Given the description of an element on the screen output the (x, y) to click on. 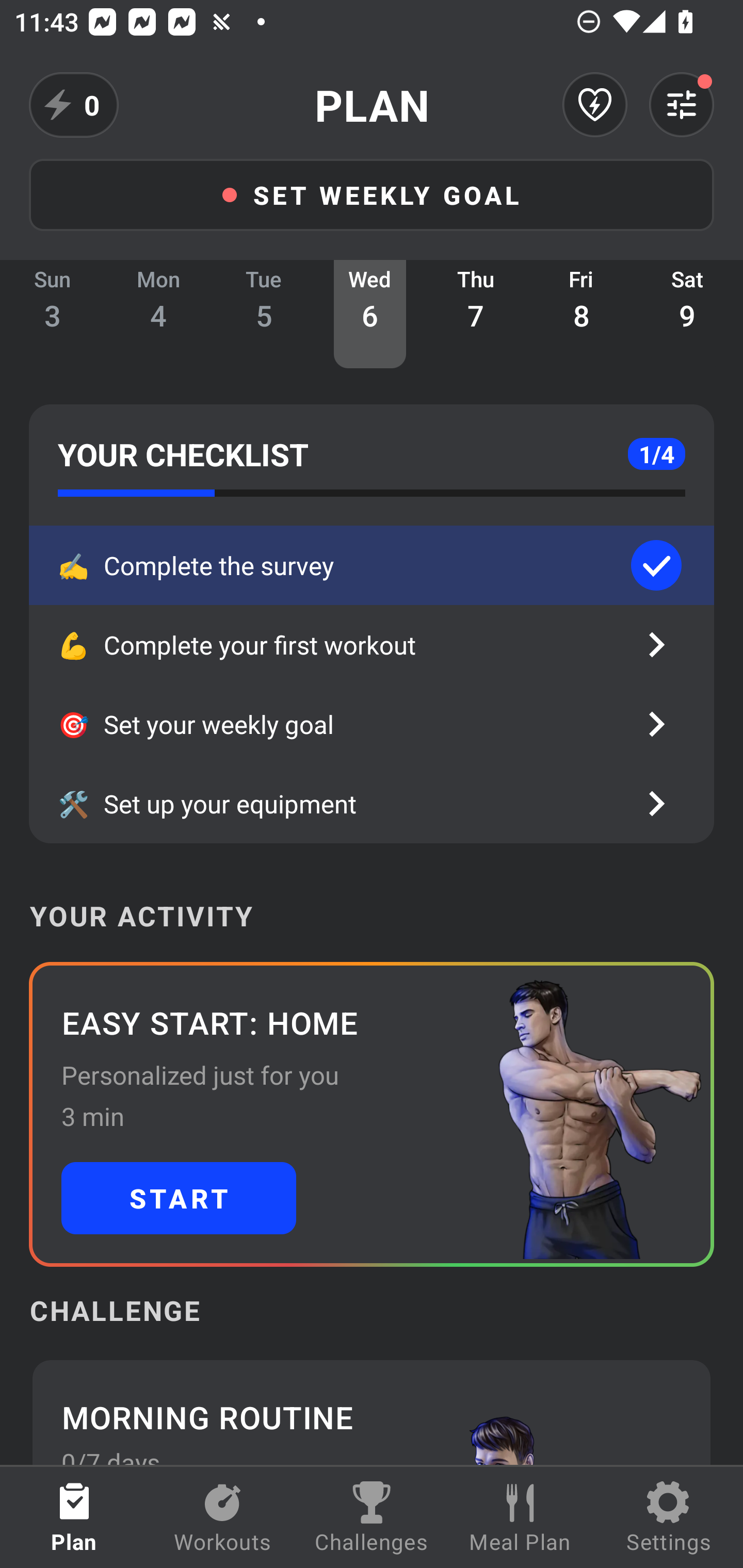
0 (73, 104)
SET WEEKLY GOAL (371, 194)
Sun 3 (52, 314)
Mon 4 (158, 314)
Tue 5 (264, 314)
Wed 6 (369, 314)
Thu 7 (475, 314)
Fri 8 (581, 314)
Sat 9 (687, 314)
💪 Complete your first workout (371, 645)
🎯 Set your weekly goal (371, 724)
🛠️ Set up your equipment (371, 803)
START (178, 1197)
 Workouts  (222, 1517)
 Challenges  (371, 1517)
 Meal Plan  (519, 1517)
 Settings  (668, 1517)
